Given the description of an element on the screen output the (x, y) to click on. 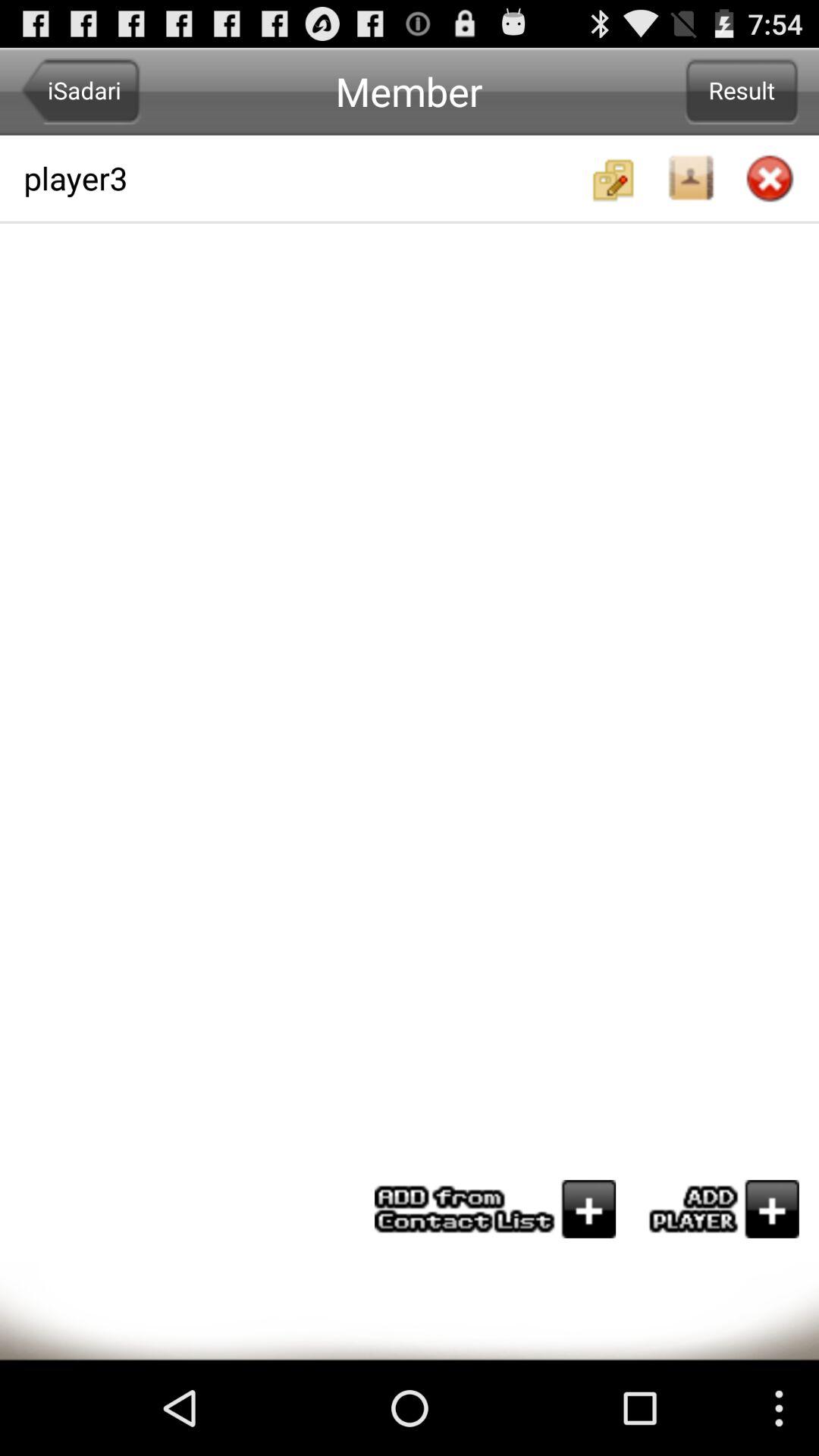
add from contact list (494, 1209)
